Given the description of an element on the screen output the (x, y) to click on. 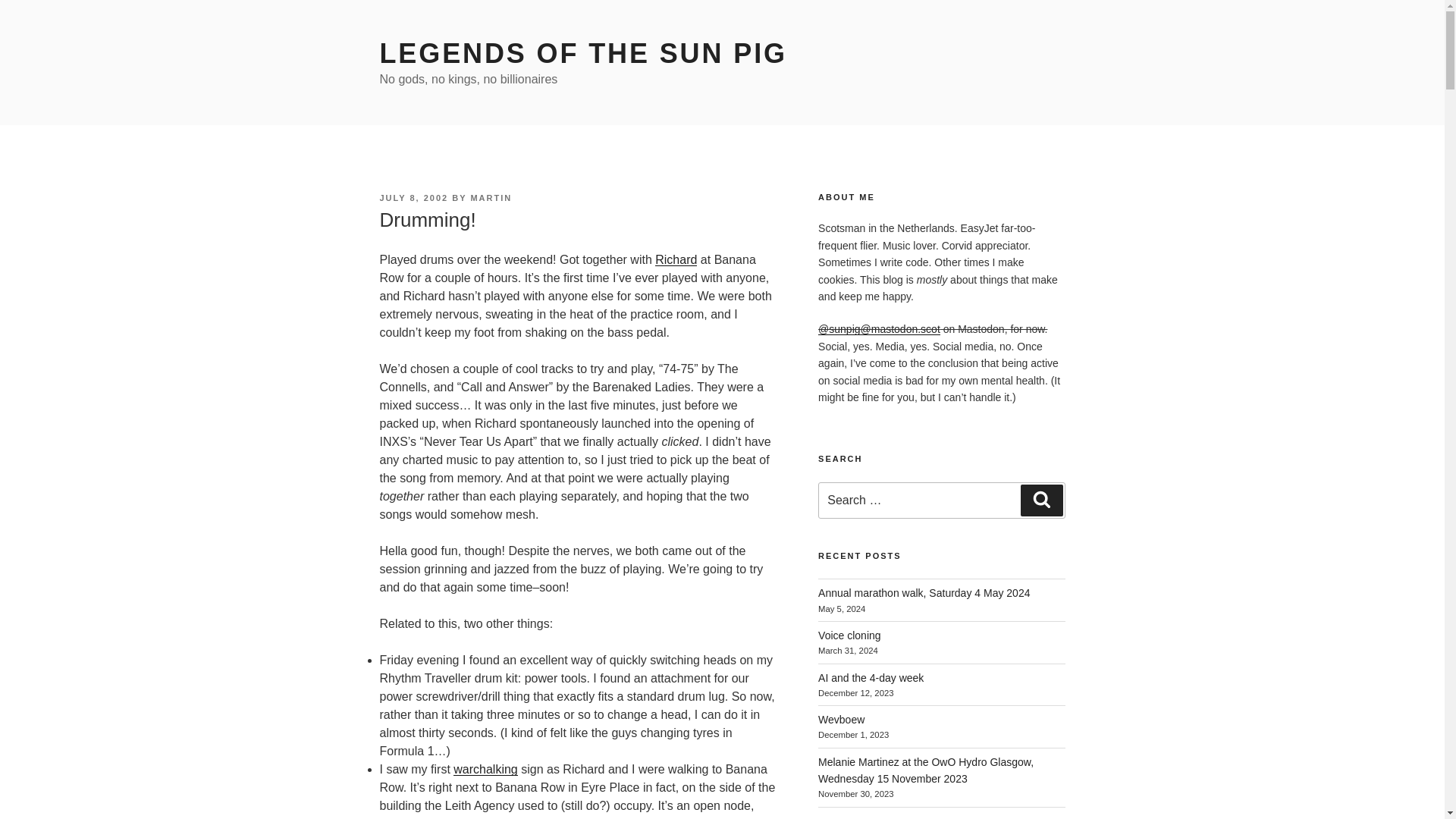
AI and the 4-day week (870, 677)
Voice cloning (849, 635)
Wevboew (841, 719)
MARTIN (491, 197)
warchalking (484, 768)
LEGENDS OF THE SUN PIG (582, 52)
Richard (676, 259)
JULY 8, 2002 (413, 197)
Search (1041, 500)
